Given the description of an element on the screen output the (x, y) to click on. 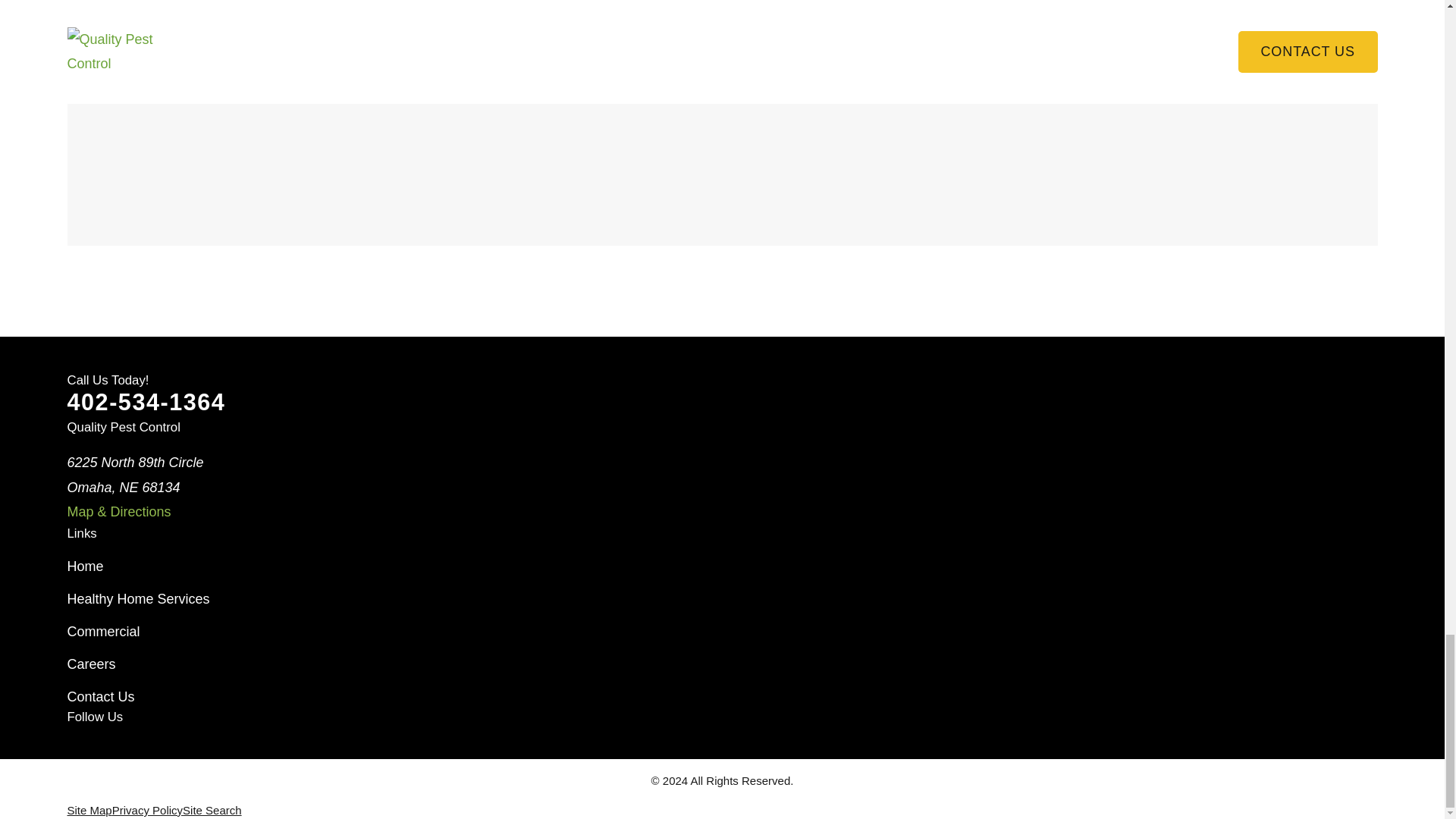
LinkedIn (173, 749)
Google Business Profile (125, 749)
BBB.org (221, 749)
Facebook (75, 749)
Angie's List (271, 749)
